Given the description of an element on the screen output the (x, y) to click on. 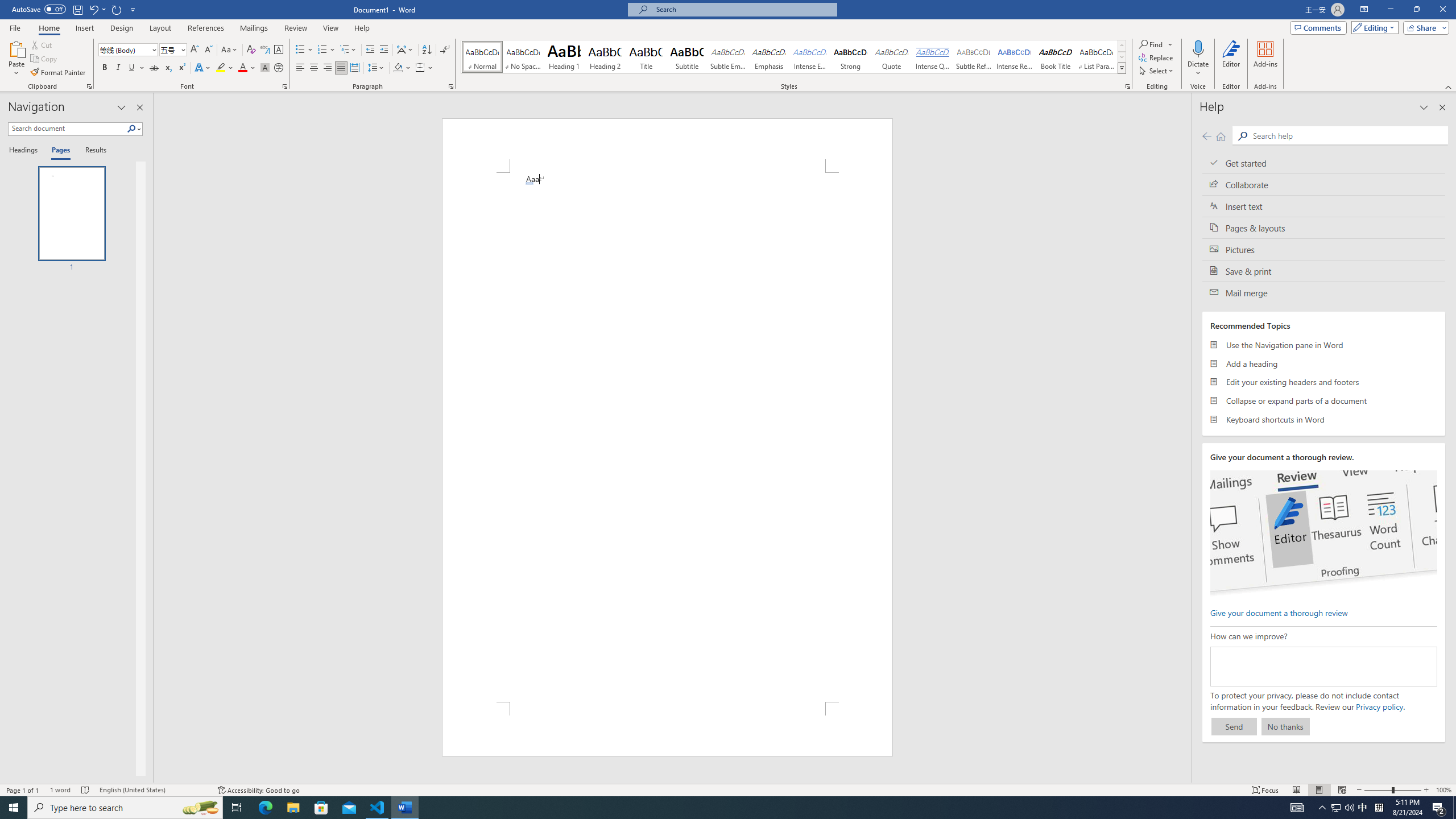
Strong (849, 56)
Title (646, 56)
Headings (25, 150)
Add a heading (1323, 363)
Change Case (229, 49)
Home (1220, 136)
Close pane (139, 107)
Mailings (253, 28)
Font... (285, 85)
Language English (United States) (152, 790)
Collaborate (1323, 184)
Help (361, 28)
Intense Reference (1014, 56)
Intense Quote (932, 56)
